Given the description of an element on the screen output the (x, y) to click on. 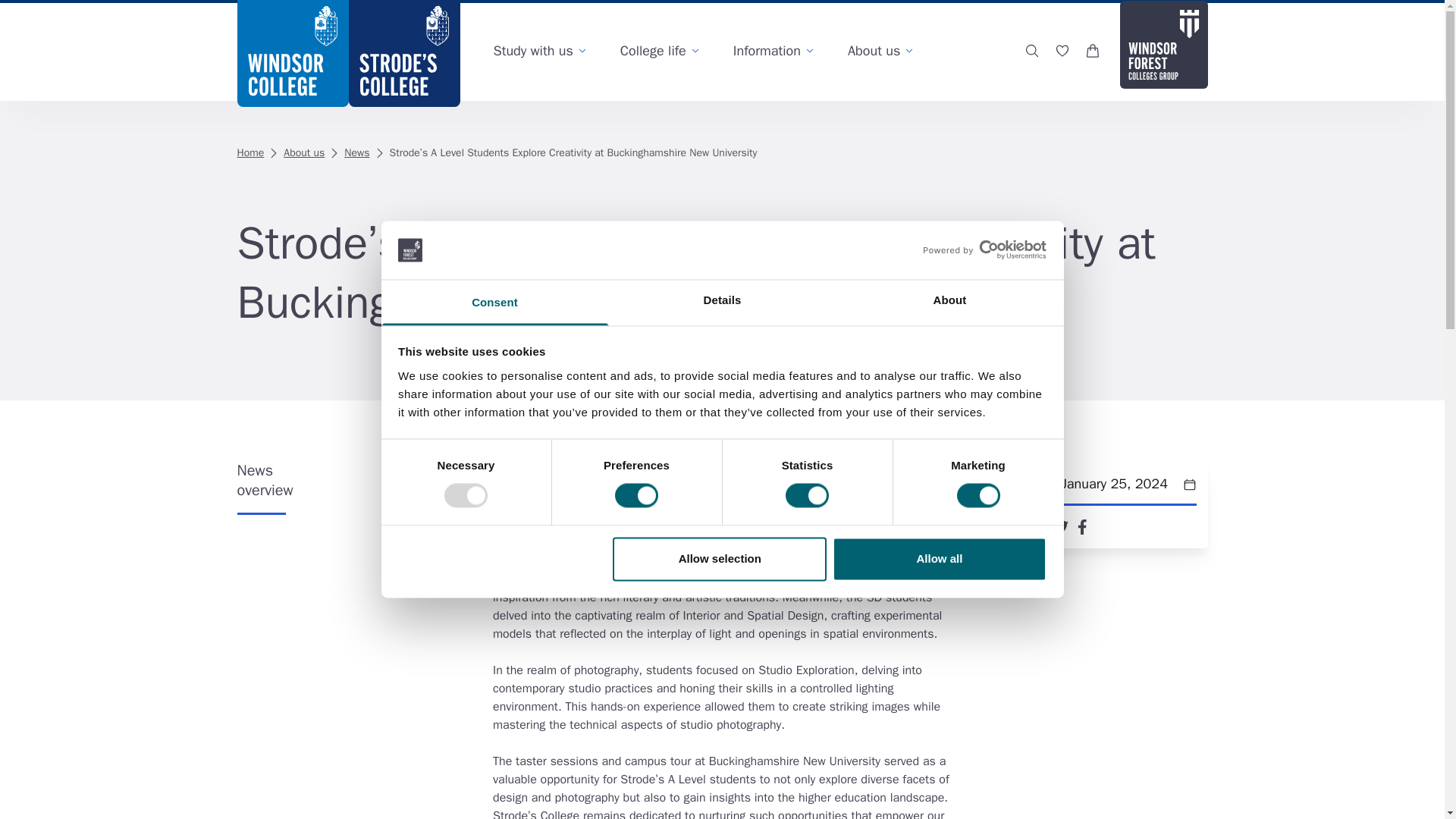
Details (721, 302)
Consent (494, 302)
About (948, 302)
